Given the description of an element on the screen output the (x, y) to click on. 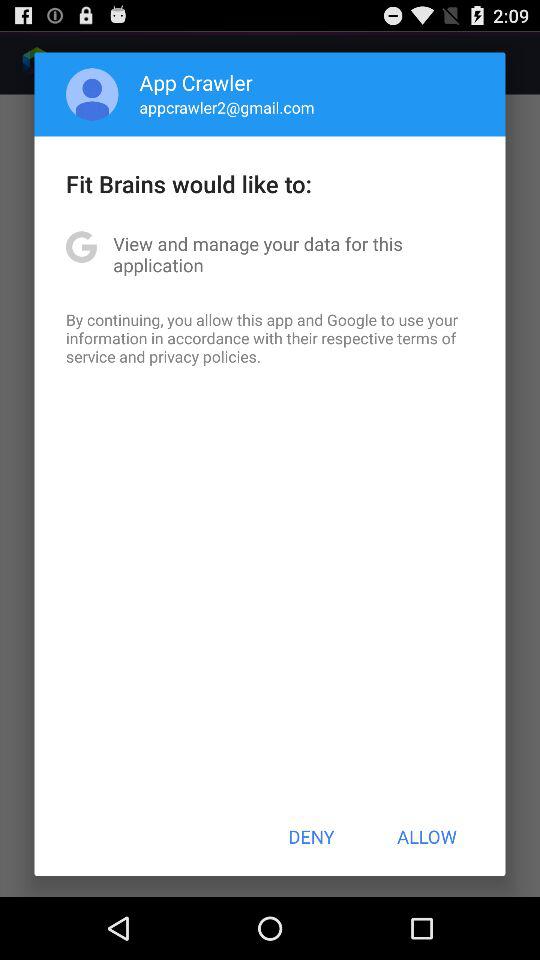
click the item below the app crawler icon (226, 107)
